Given the description of an element on the screen output the (x, y) to click on. 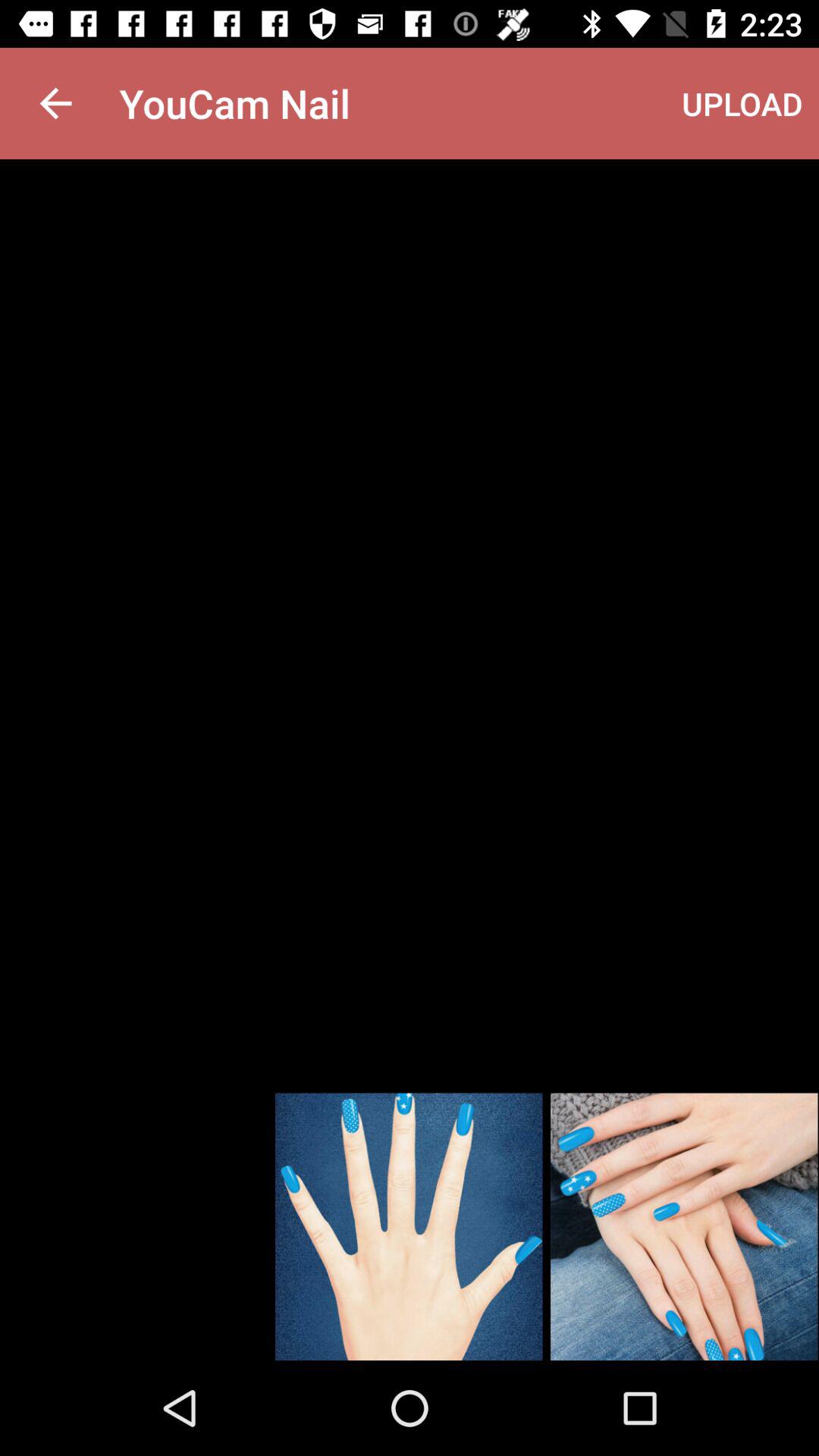
select this pic for upload (683, 1226)
